Given the description of an element on the screen output the (x, y) to click on. 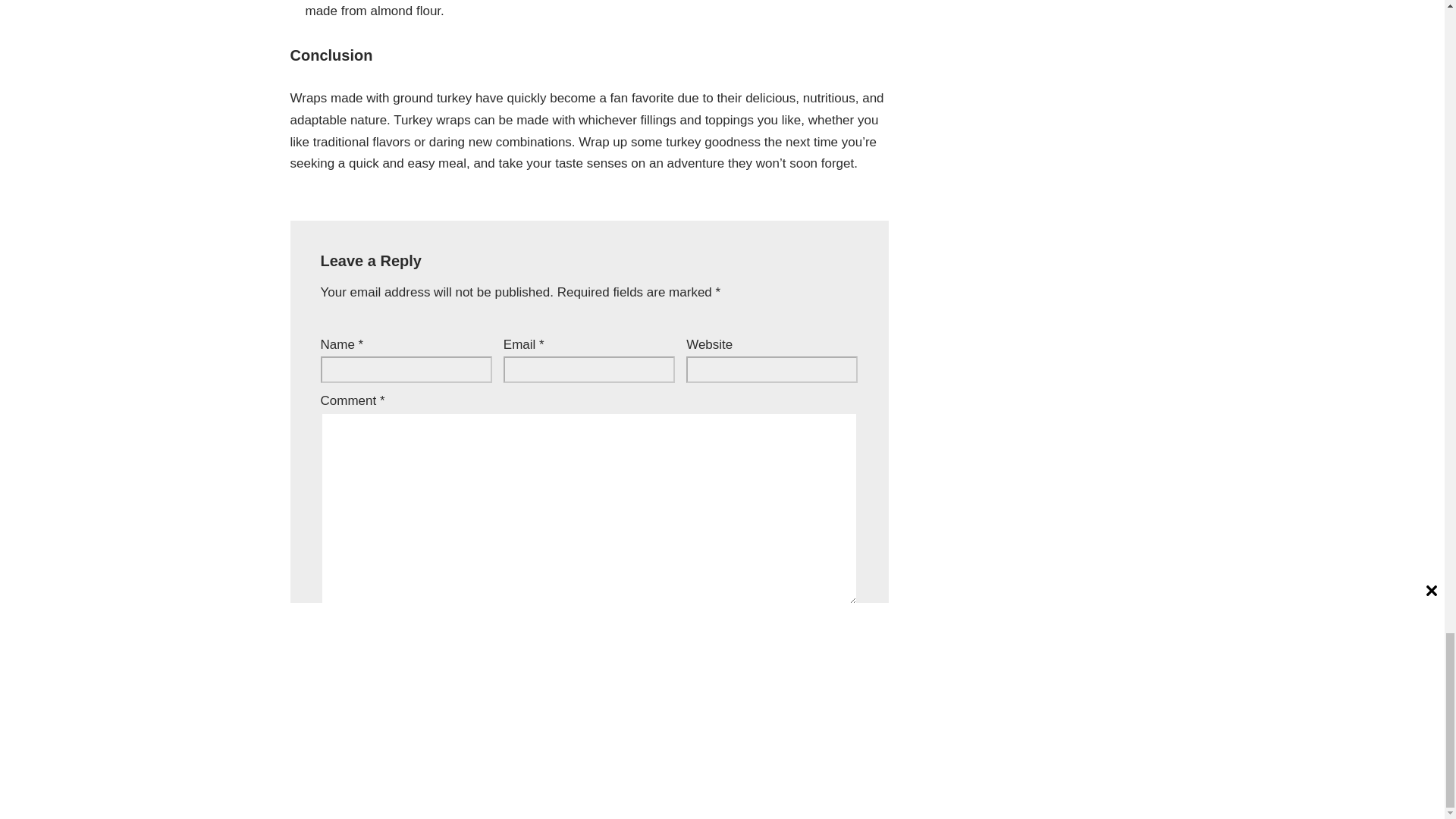
Post Comment (381, 661)
Post Comment (381, 661)
WordPress (434, 798)
yes (325, 623)
Neve (304, 798)
